Given the description of an element on the screen output the (x, y) to click on. 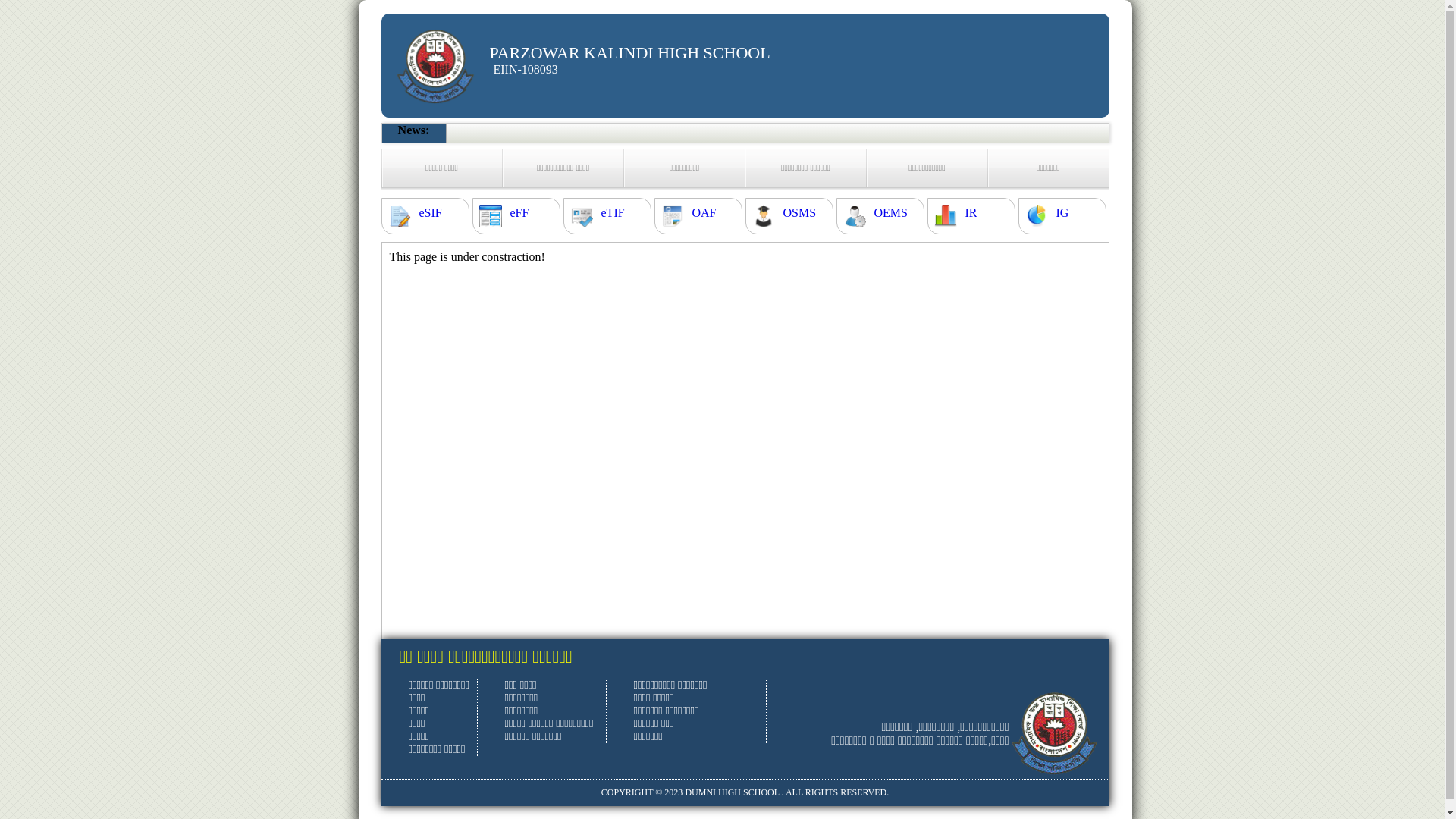
eSIF Element type: text (429, 212)
IG Element type: text (1061, 212)
OAF Element type: text (703, 212)
OSMS Element type: text (798, 212)
DUMNI HIGH SCHOOL Element type: text (731, 792)
OEMS Element type: text (889, 212)
eFF Element type: text (518, 212)
IR Element type: text (970, 212)
eTIF Element type: text (612, 212)
